Given the description of an element on the screen output the (x, y) to click on. 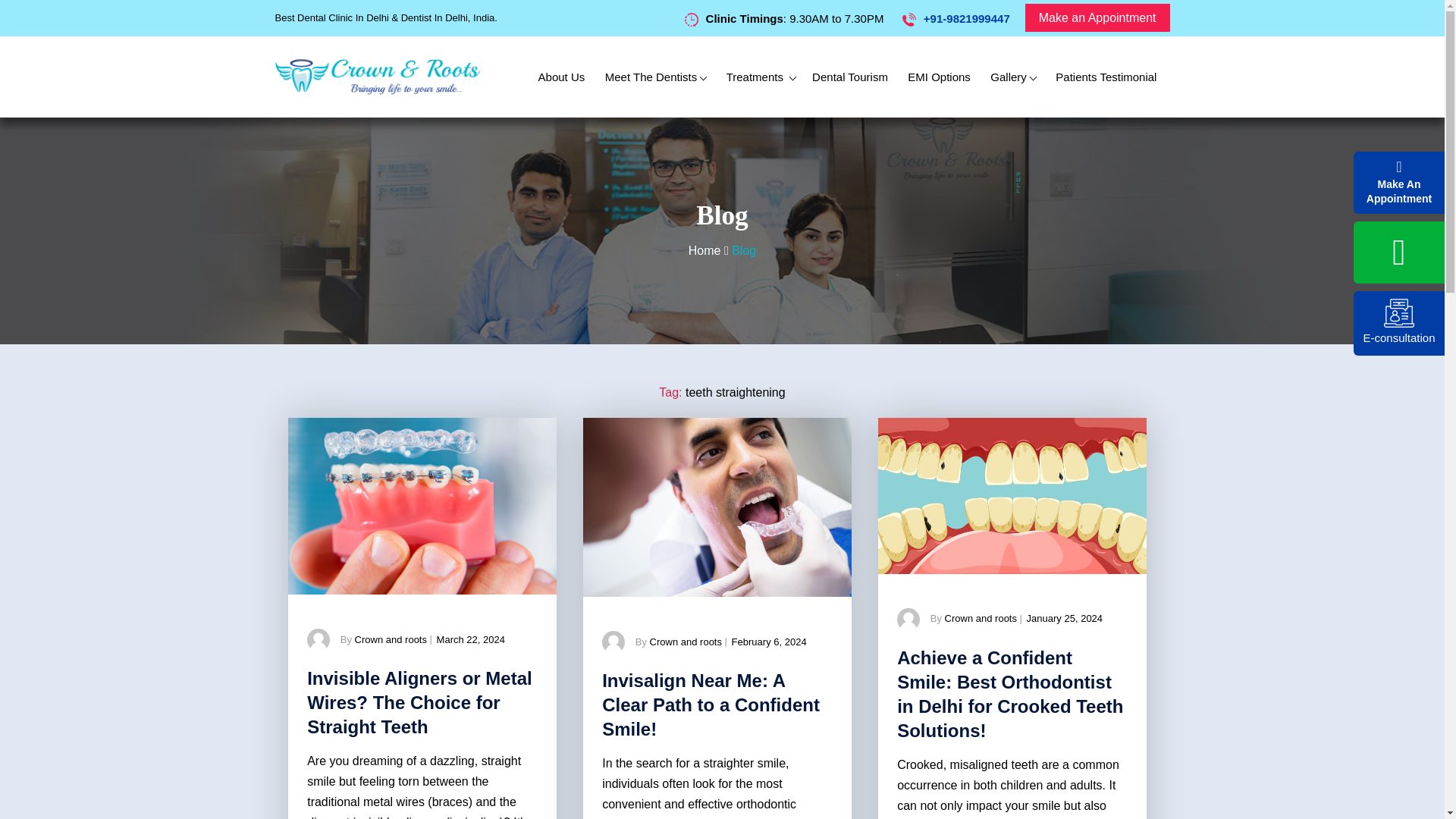
Make an Appointment (1097, 17)
EMI Options (938, 76)
Crown and roots (390, 639)
Patients Testimonial (1105, 76)
March 22, 2024 (470, 639)
Dental Tourism (849, 76)
Make an Appointment With Dentist (1097, 17)
E-consultation With Dentist (1398, 312)
Dental Treatments (760, 76)
